Given the description of an element on the screen output the (x, y) to click on. 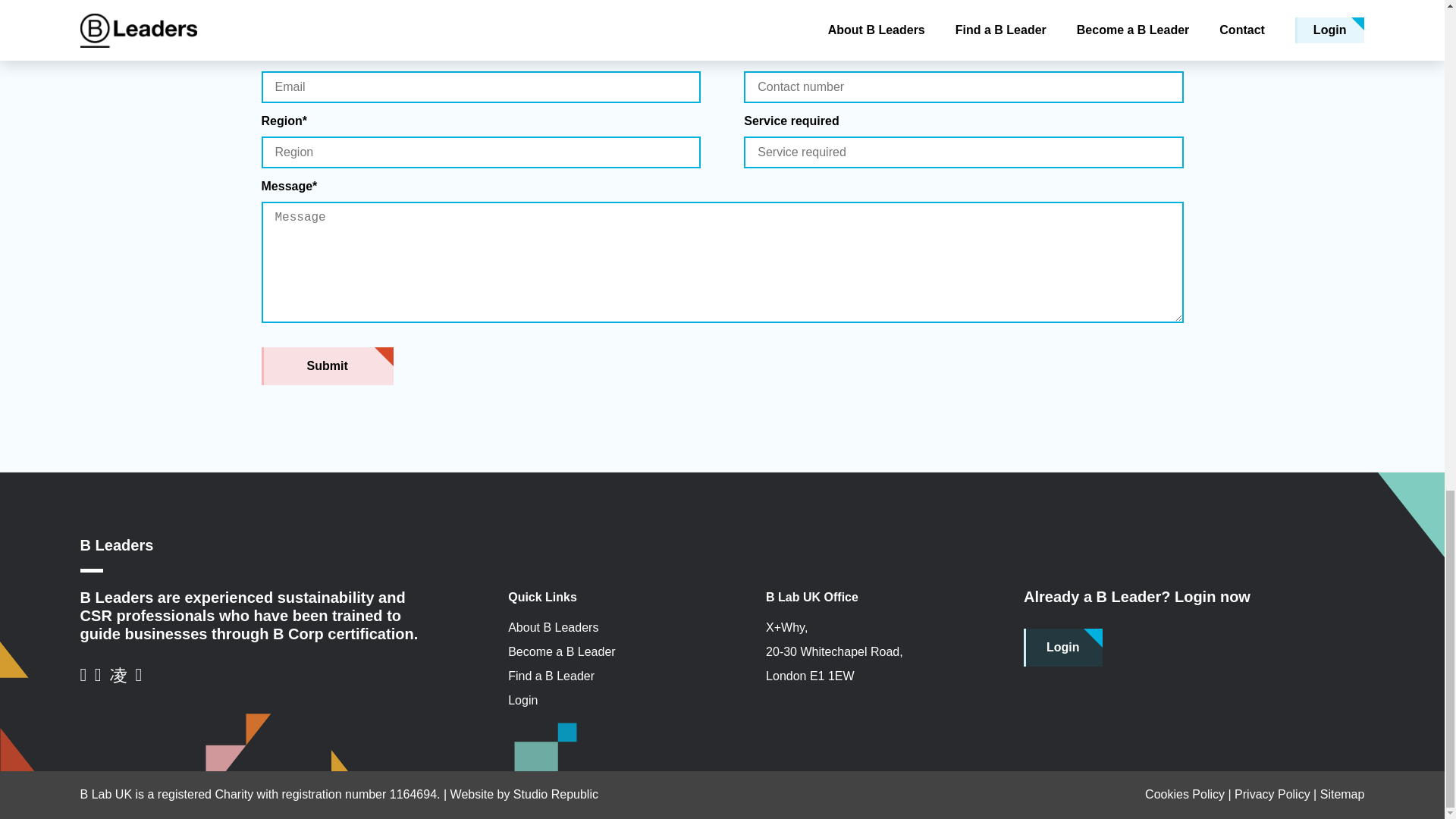
Find a B Leader (593, 676)
Submit (326, 365)
Website by Studio Republic (523, 793)
Become a B Leader (593, 651)
Login (1062, 647)
Sitemap (1342, 793)
About B Leaders (593, 627)
Cookies Policy (1184, 793)
Privacy Policy (1272, 793)
Login (593, 700)
